Given the description of an element on the screen output the (x, y) to click on. 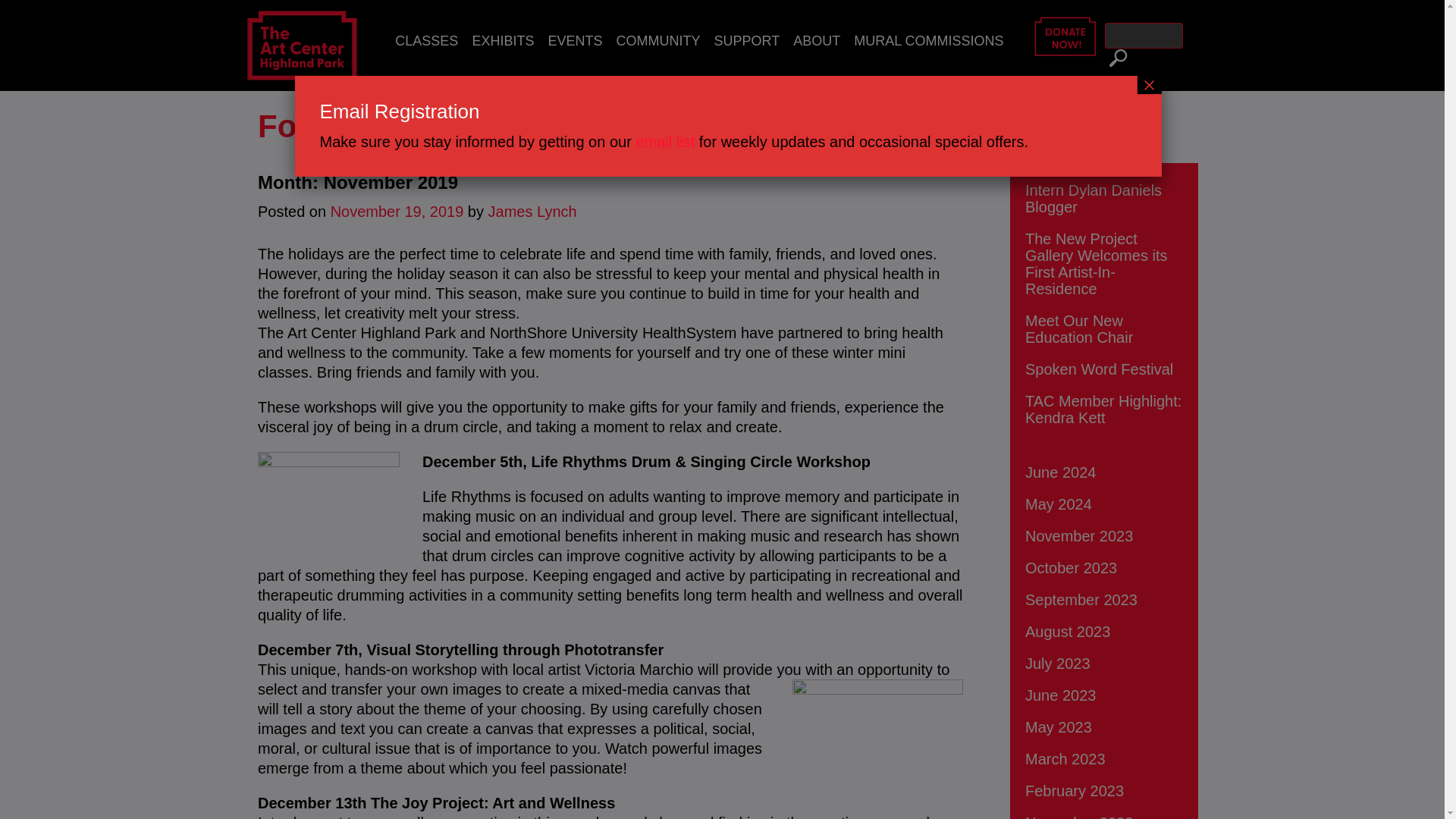
ABOUT (816, 40)
Search (1114, 58)
EVENTS (574, 40)
Search (1114, 58)
COMMUNITY (657, 40)
CLASSES (426, 40)
SUPPORT (746, 40)
EXHIBITS (502, 40)
